Given the description of an element on the screen output the (x, y) to click on. 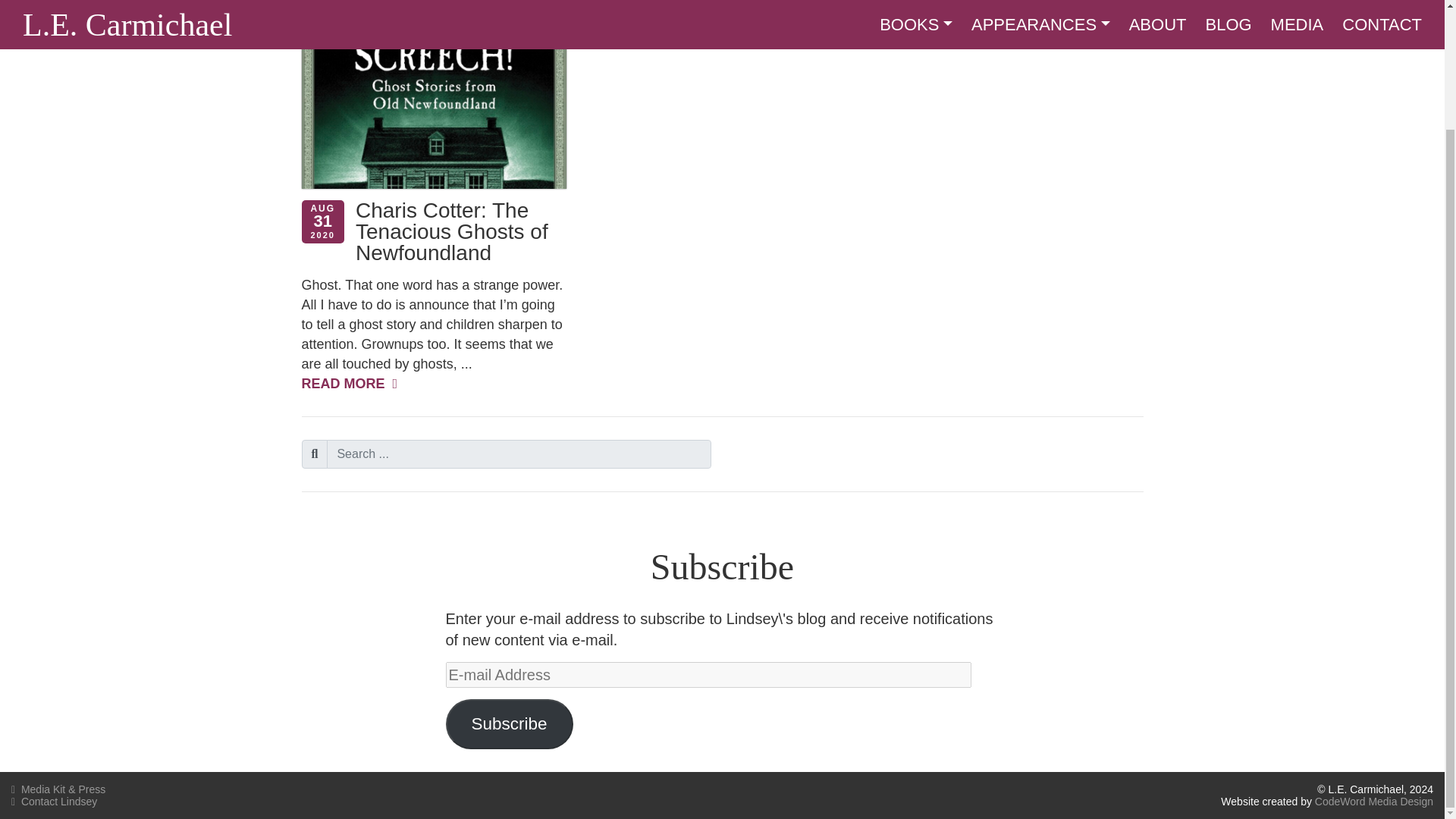
Charis Cotter: The Tenacious Ghosts of Newfoundland (451, 231)
Charis Cotter: The Tenacious Ghosts of Newfoundland (451, 231)
CodeWord Media Design (1373, 801)
  Contact Lindsey (54, 801)
READ MORE   (349, 383)
Subscribe (509, 724)
